Given the description of an element on the screen output the (x, y) to click on. 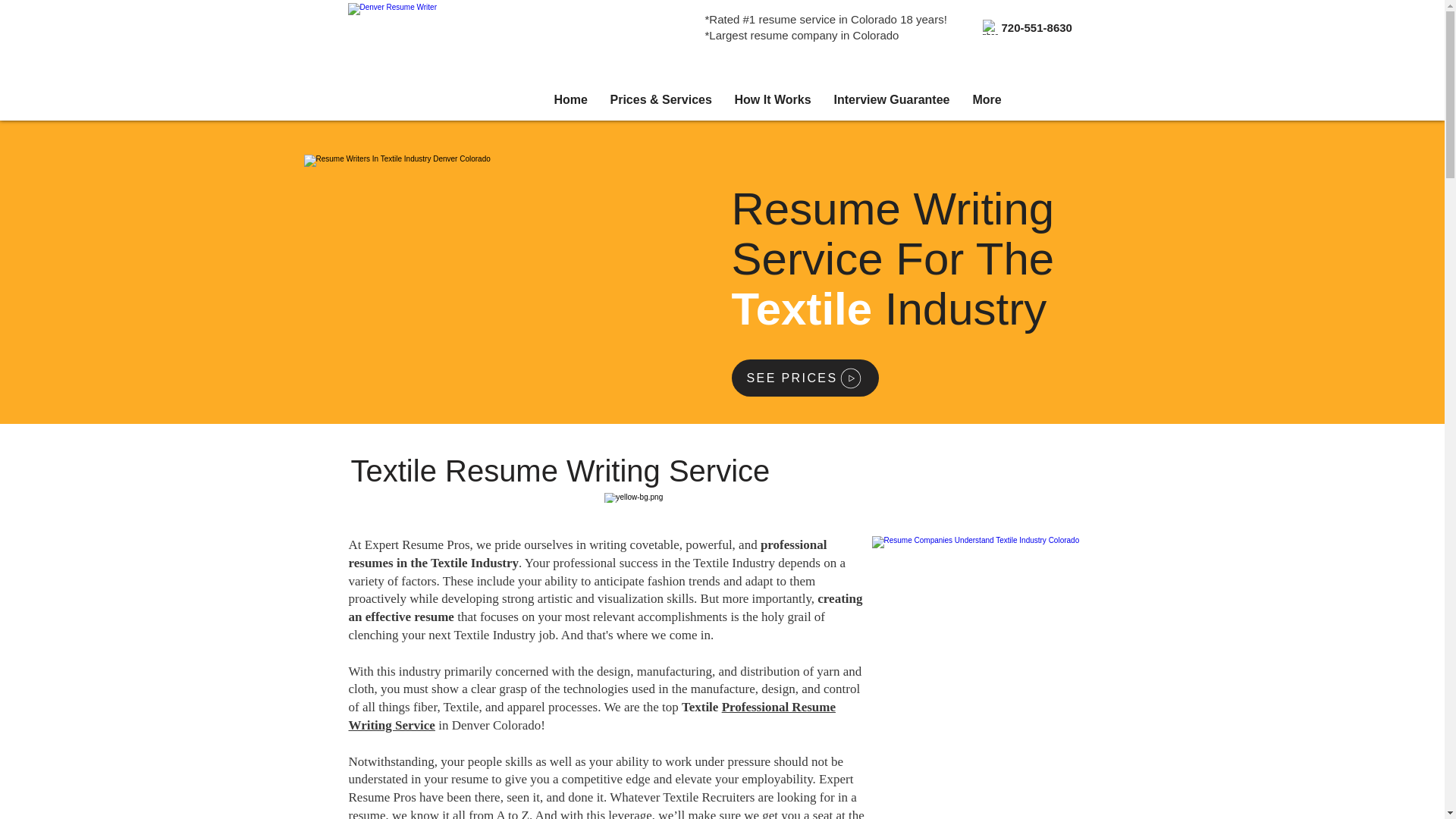
Professional Resume Writing Service (592, 716)
Home (570, 99)
SEE PRICES (803, 377)
How It Works (772, 99)
Interview Guarantee (891, 99)
